Given the description of an element on the screen output the (x, y) to click on. 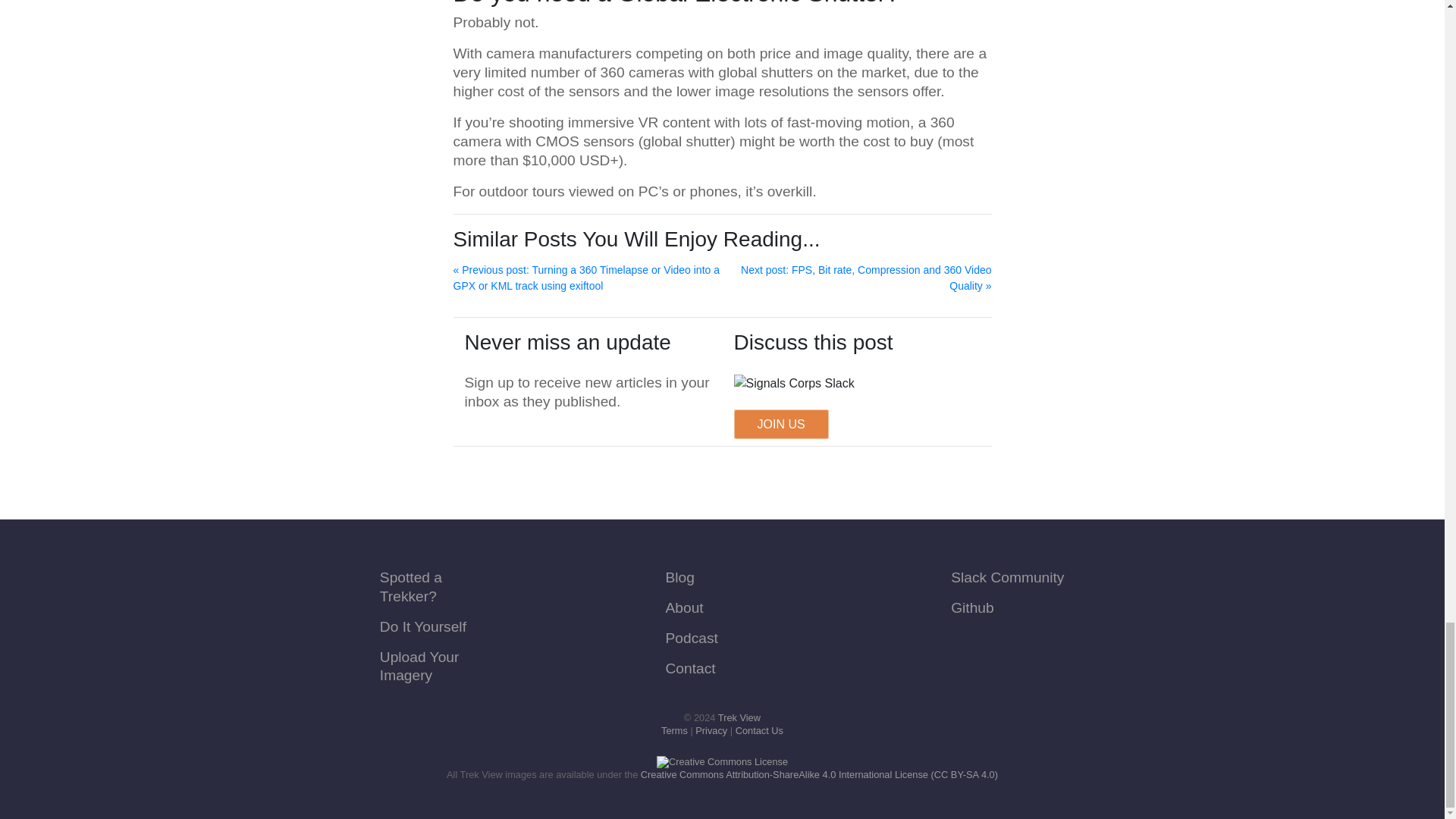
Do It Yourself (422, 626)
About (684, 607)
Privacy (710, 730)
JOIN US (780, 423)
Spotted a Trekker? (411, 586)
Trek View (738, 717)
Signals Corps Slack (793, 383)
Slack Community (1007, 577)
Contact Us (759, 730)
Blog (679, 577)
Upload Your Imagery (420, 665)
Github (972, 607)
Podcast (691, 637)
Contact (690, 668)
Terms (674, 730)
